Given the description of an element on the screen output the (x, y) to click on. 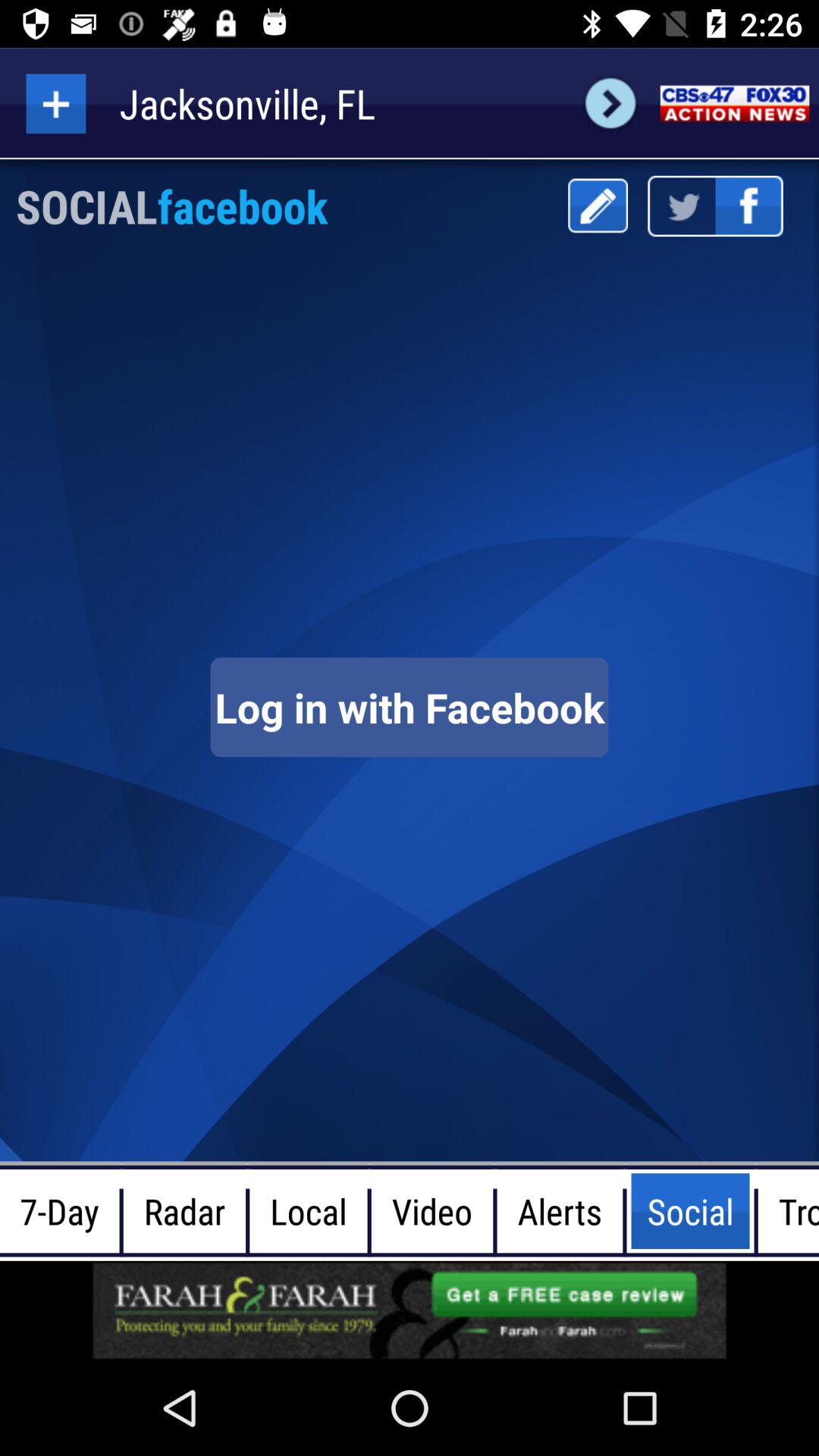
log in page (409, 707)
